Given the description of an element on the screen output the (x, y) to click on. 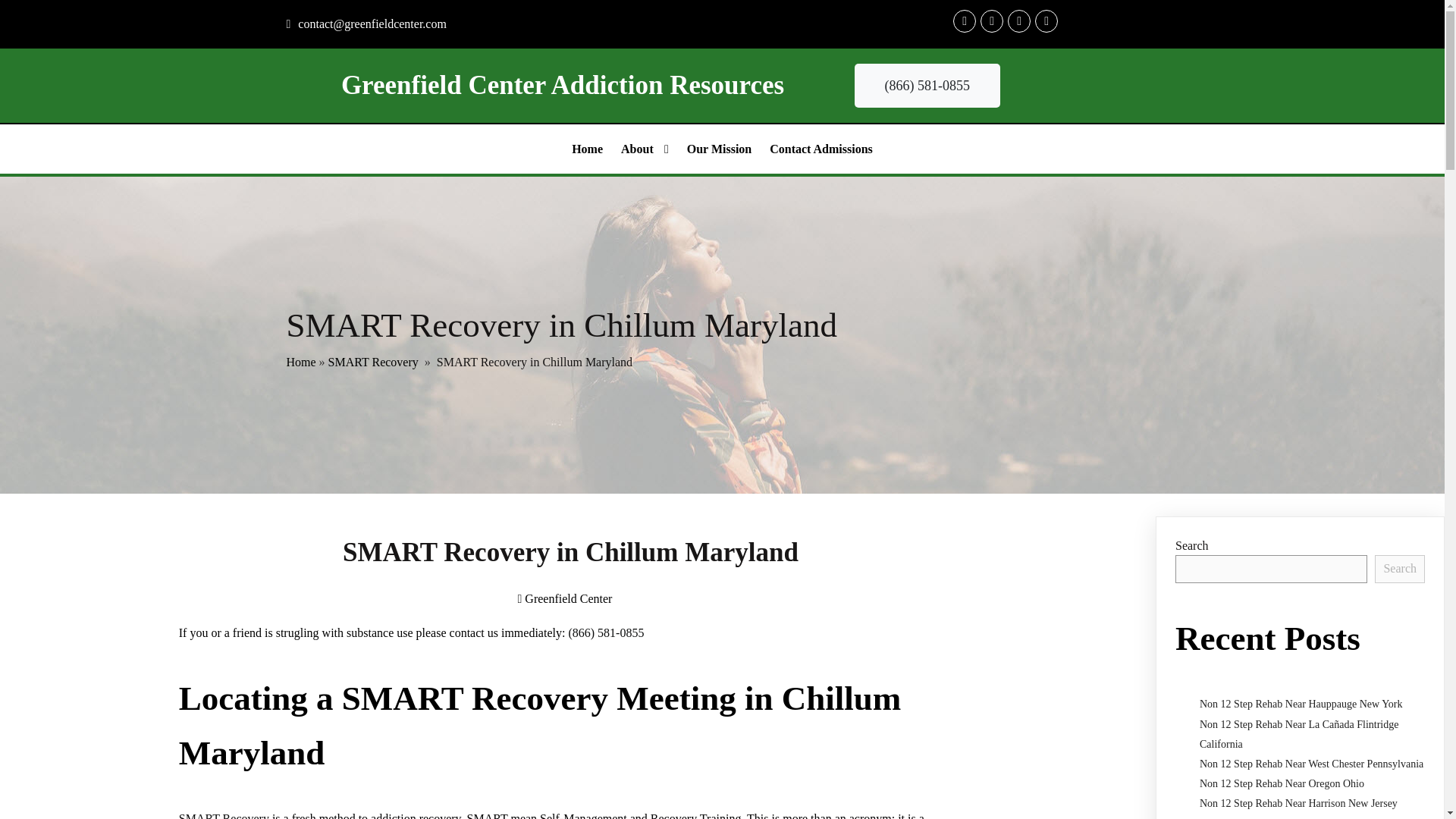
Non 12 Step Rehab Near West Chester Pennsylvania (1311, 763)
Greenfield Center (563, 598)
Contact Admissions (820, 149)
Search (1399, 568)
About (644, 149)
Home (300, 361)
SMART Recovery (374, 361)
SMART Recovery (224, 815)
Non 12 Step Rehab Near Hauppauge New York (1301, 704)
Non 12 Step Rehab Near Oregon Ohio (1281, 783)
Home (587, 149)
Our Mission (719, 149)
Non 12 Step Rehab Near Harrison New Jersey (1298, 803)
